Given the description of an element on the screen output the (x, y) to click on. 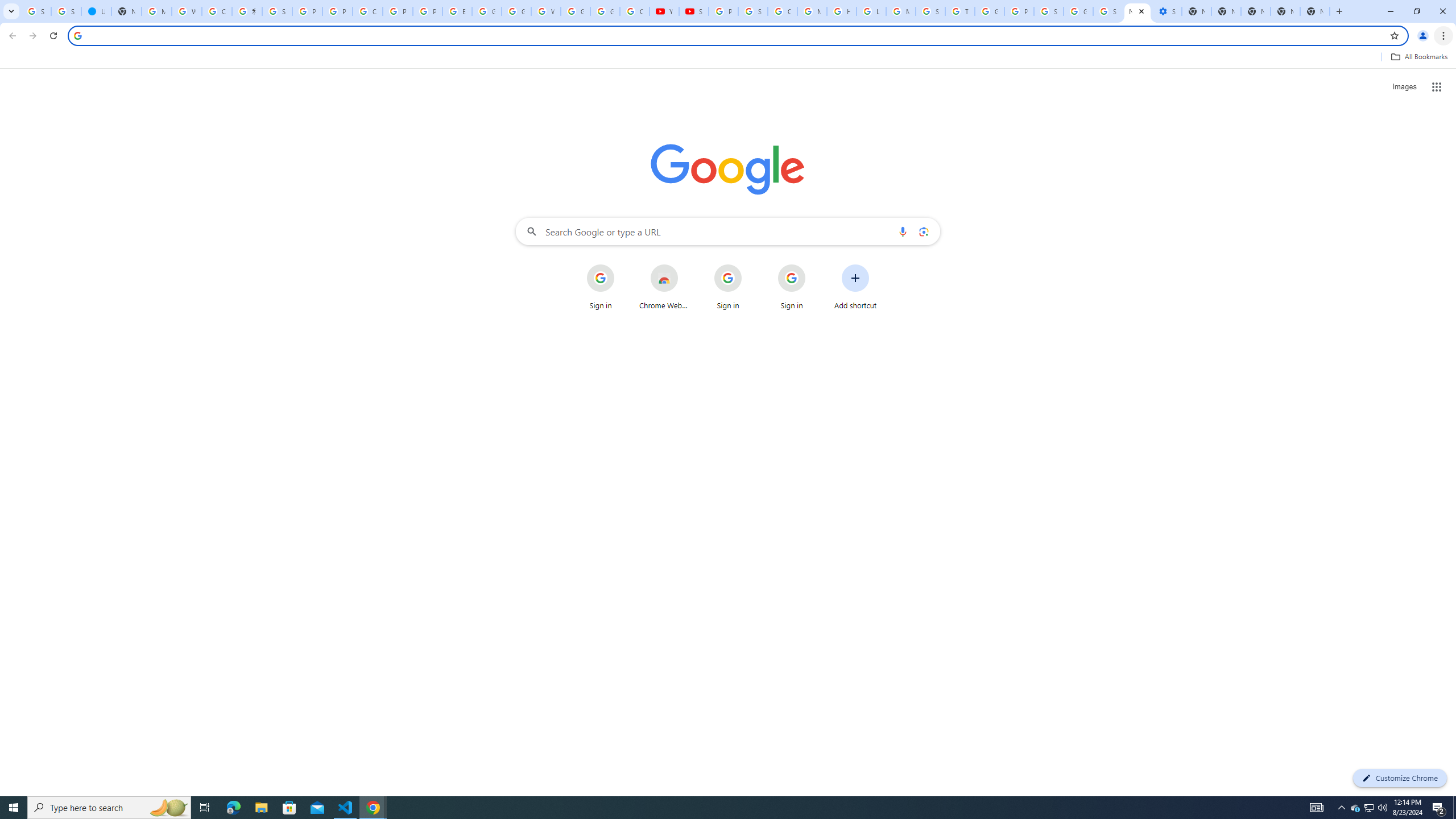
Sign in - Google Accounts (1107, 11)
Sign in - Google Accounts (36, 11)
Sign in - Google Accounts (753, 11)
Customize Chrome (1399, 778)
Search icon (77, 35)
All Bookmarks (1418, 56)
More actions for Chrome Web Store shortcut (686, 265)
